Given the description of an element on the screen output the (x, y) to click on. 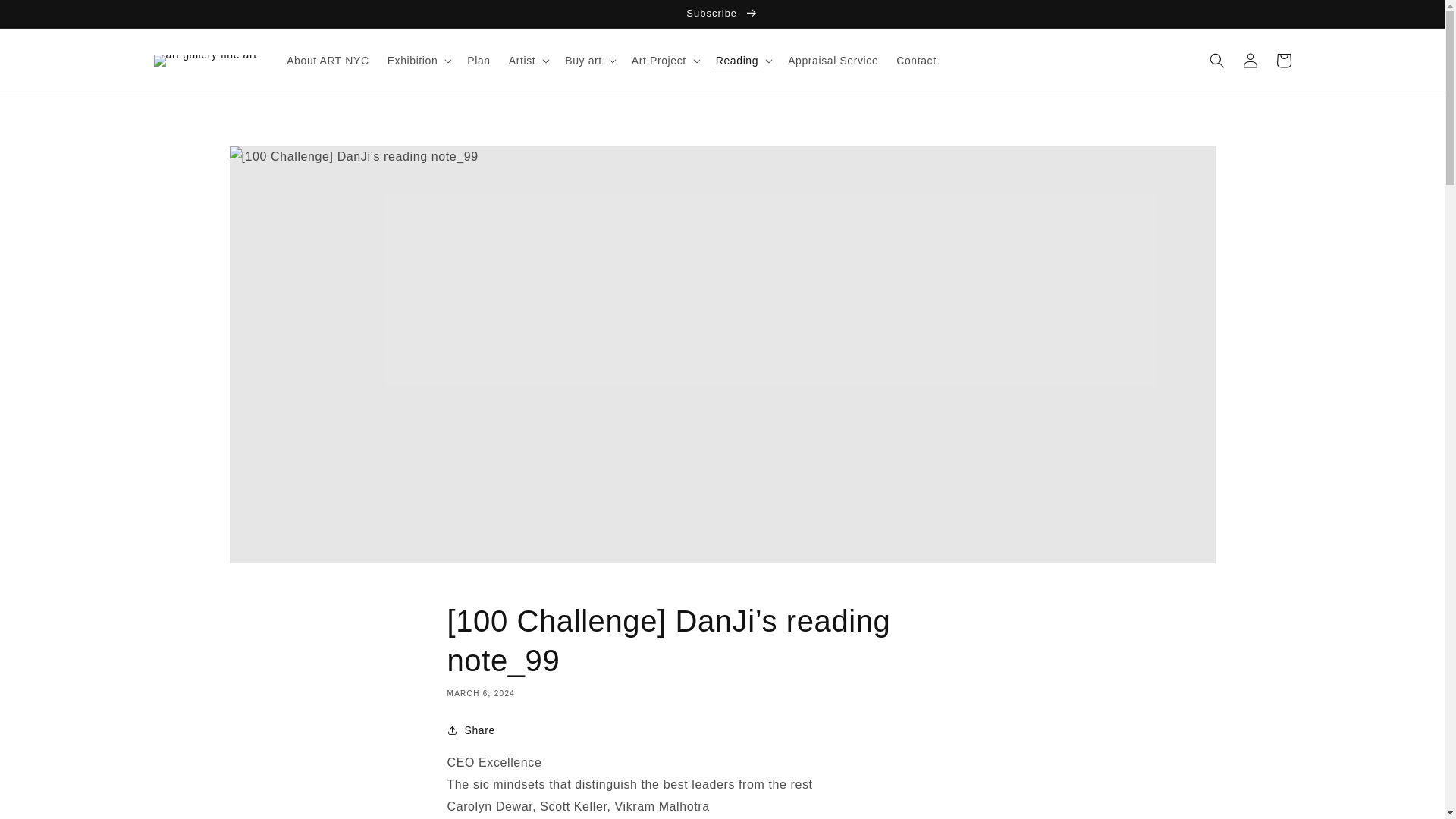
Skip to content (45, 16)
